Given the description of an element on the screen output the (x, y) to click on. 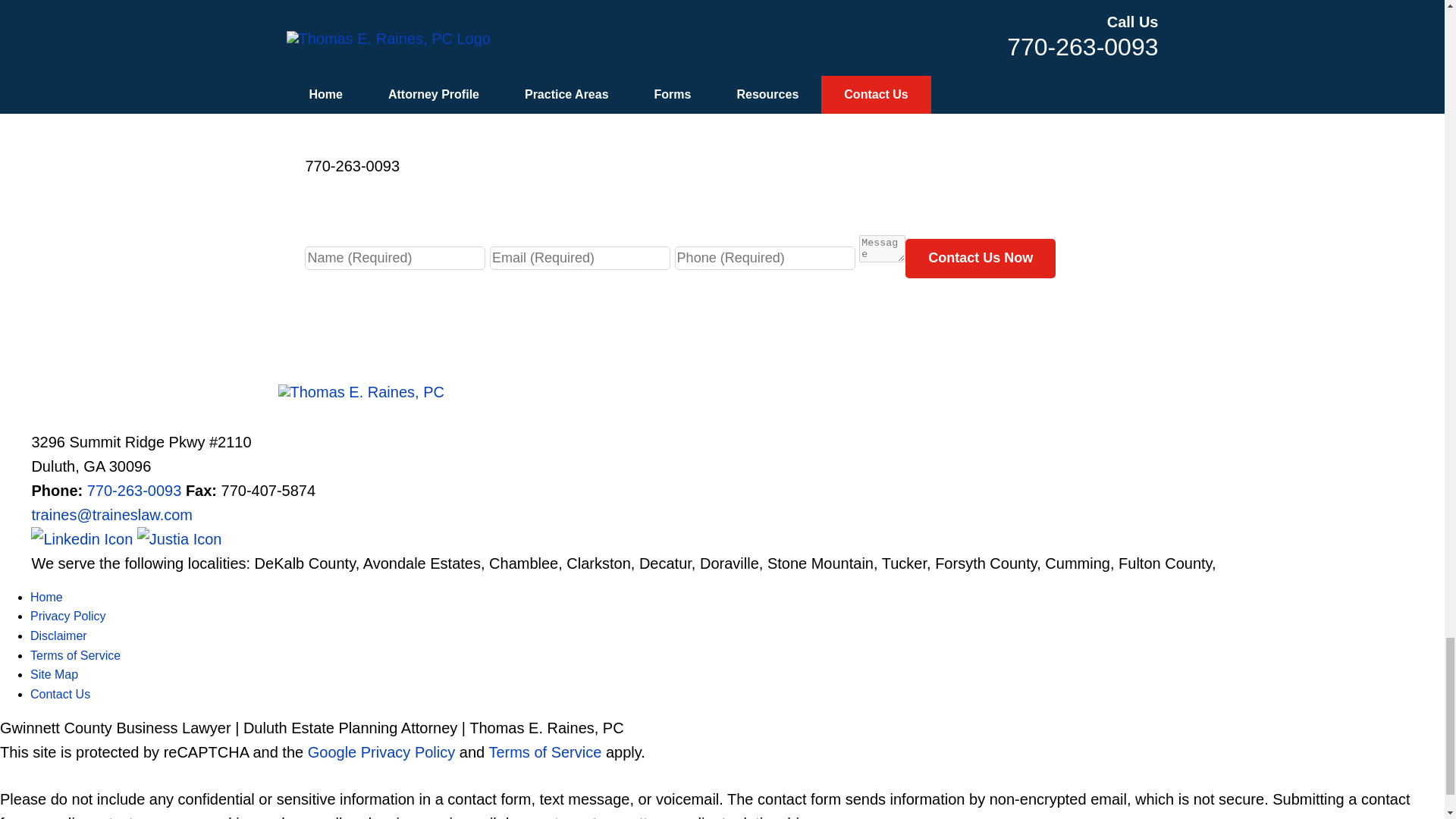
770-263-0093 (134, 490)
Linkedin (83, 538)
Justia (179, 538)
Contact Us Now (980, 258)
